Given the description of an element on the screen output the (x, y) to click on. 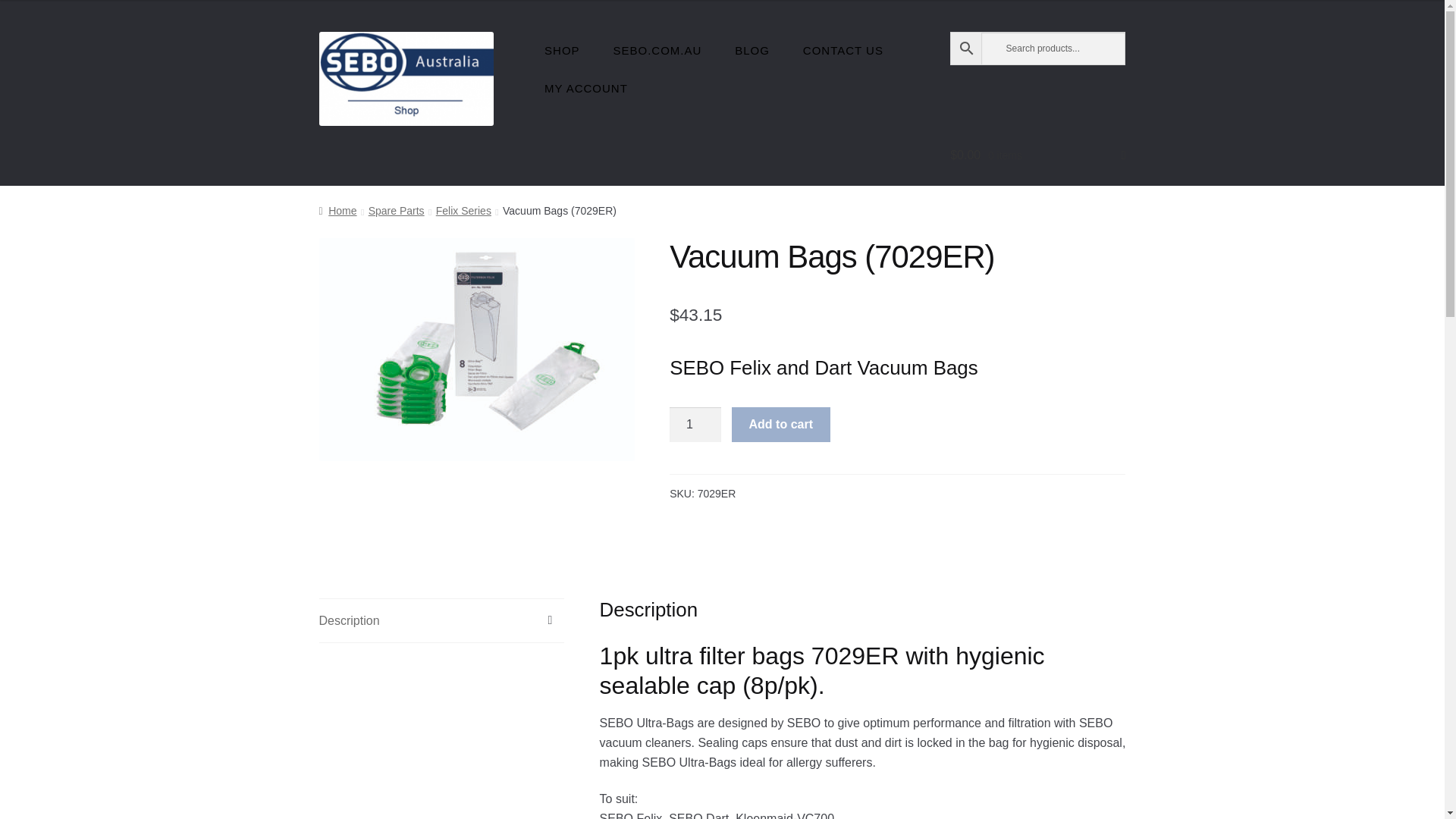
View your shopping cart (1037, 155)
MY ACCOUNT (586, 88)
7029ERs (476, 349)
SEBO.COM.AU (656, 50)
BLOG (751, 50)
1 (694, 424)
SHOP (562, 50)
CONTACT US (842, 50)
